Given the description of an element on the screen output the (x, y) to click on. 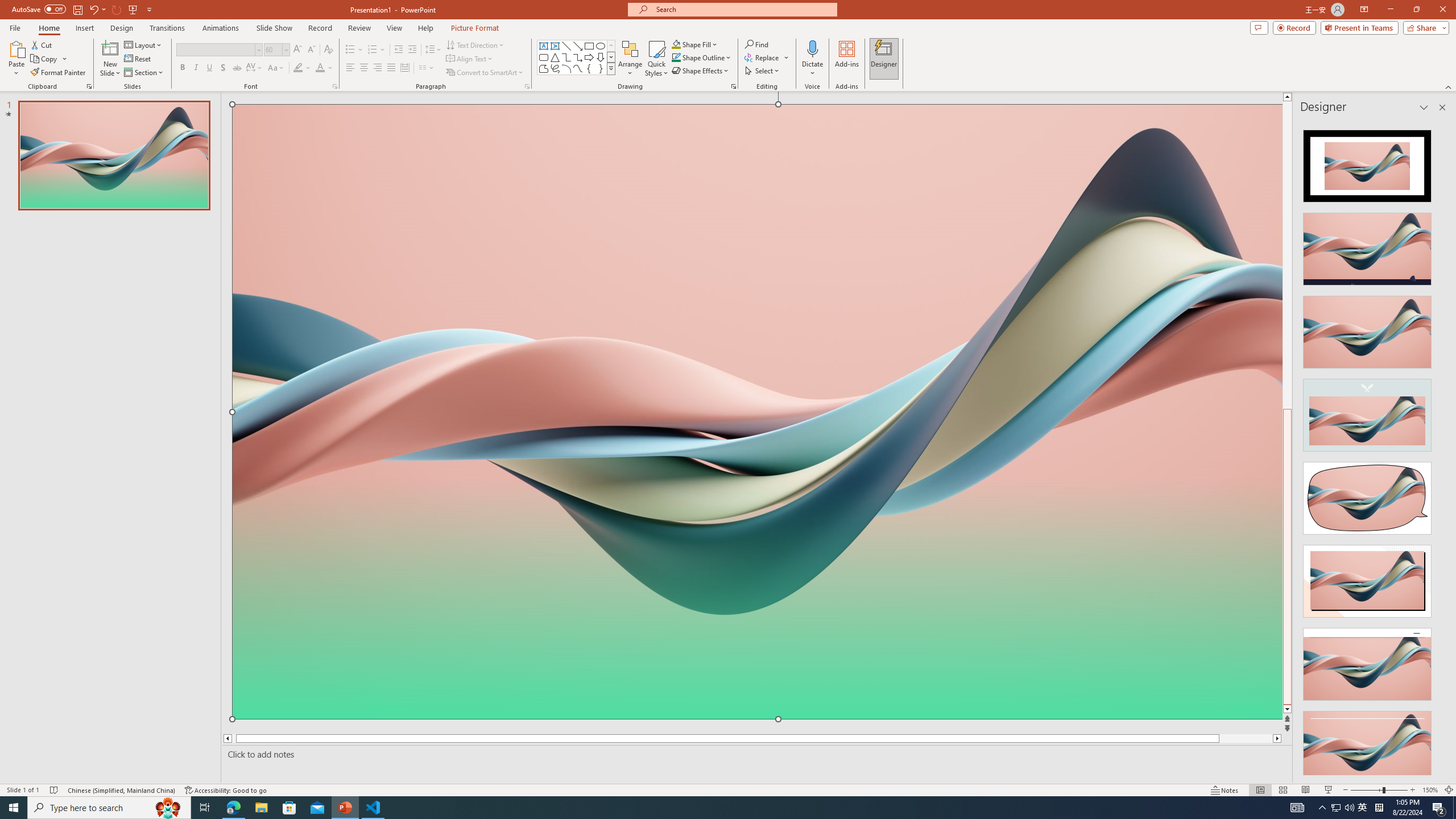
Decorative Locked (757, 579)
